Given the description of an element on the screen output the (x, y) to click on. 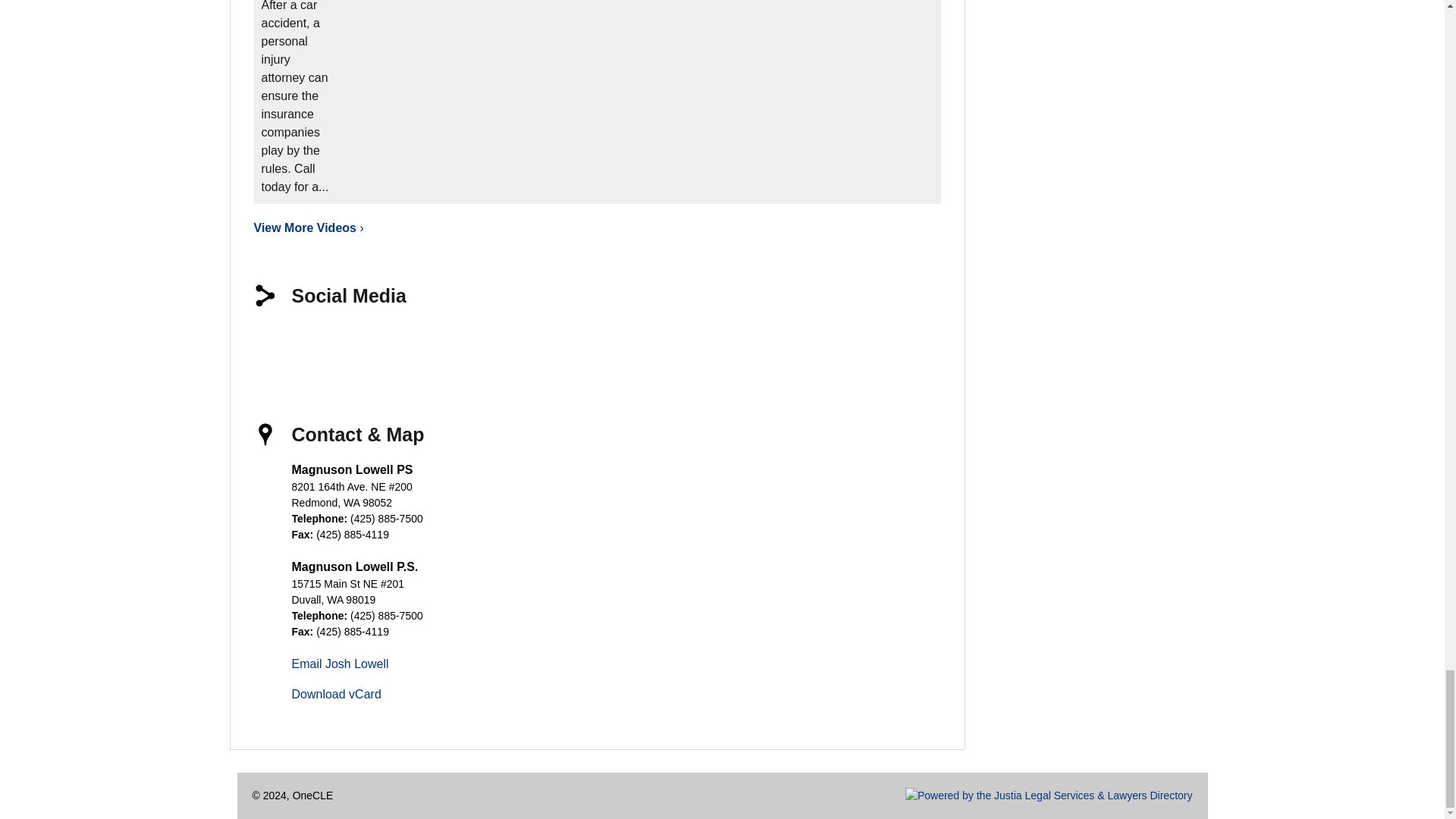
LinkedIn (381, 345)
Justia Profile (435, 345)
Josh Lowell's Lawyers.com Profile (541, 345)
Josh Lowell on Facebook (275, 345)
Email Josh Lowell (339, 663)
X (328, 345)
Josh Lowell's Avvo Profile (488, 345)
Josh Lowell on LinkedIn (381, 345)
Facebook (275, 345)
